Given the description of an element on the screen output the (x, y) to click on. 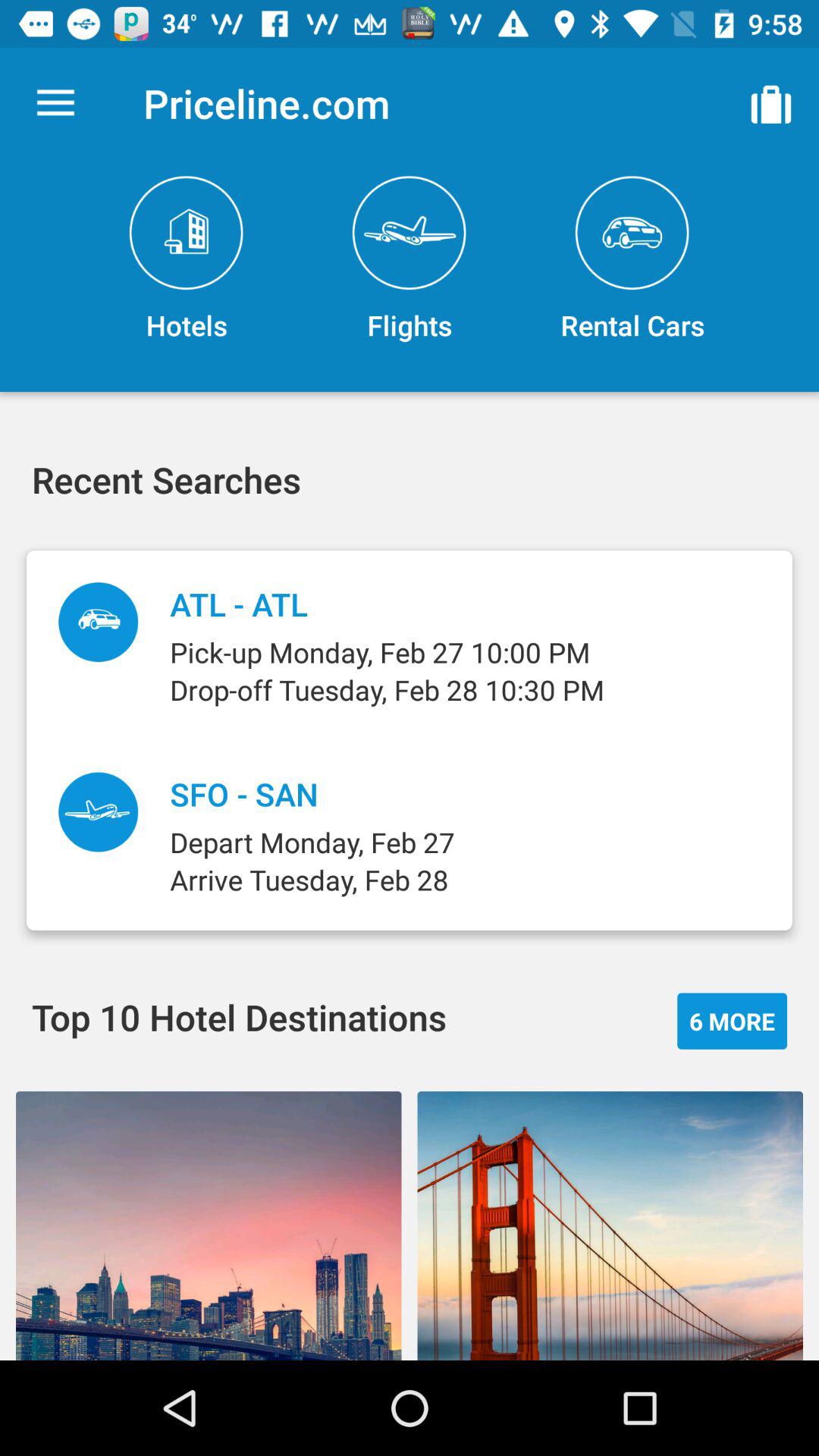
press 6 more item (732, 1021)
